Given the description of an element on the screen output the (x, y) to click on. 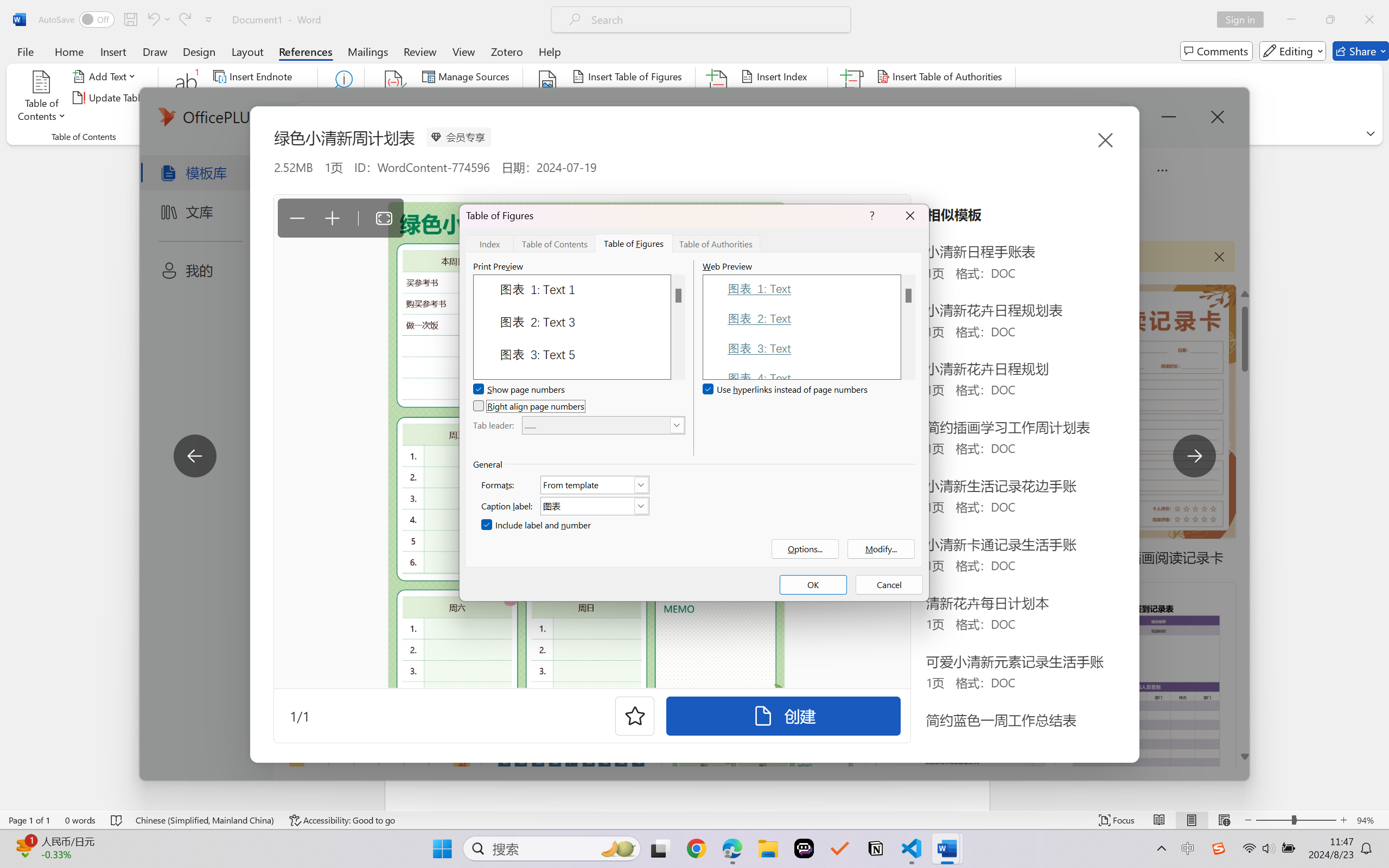
Insert Table of Authorities... (941, 75)
Manage Sources... (467, 75)
Show Notes (248, 118)
Bibliography (463, 118)
Redo Apply Quick Style (184, 19)
